Given the description of an element on the screen output the (x, y) to click on. 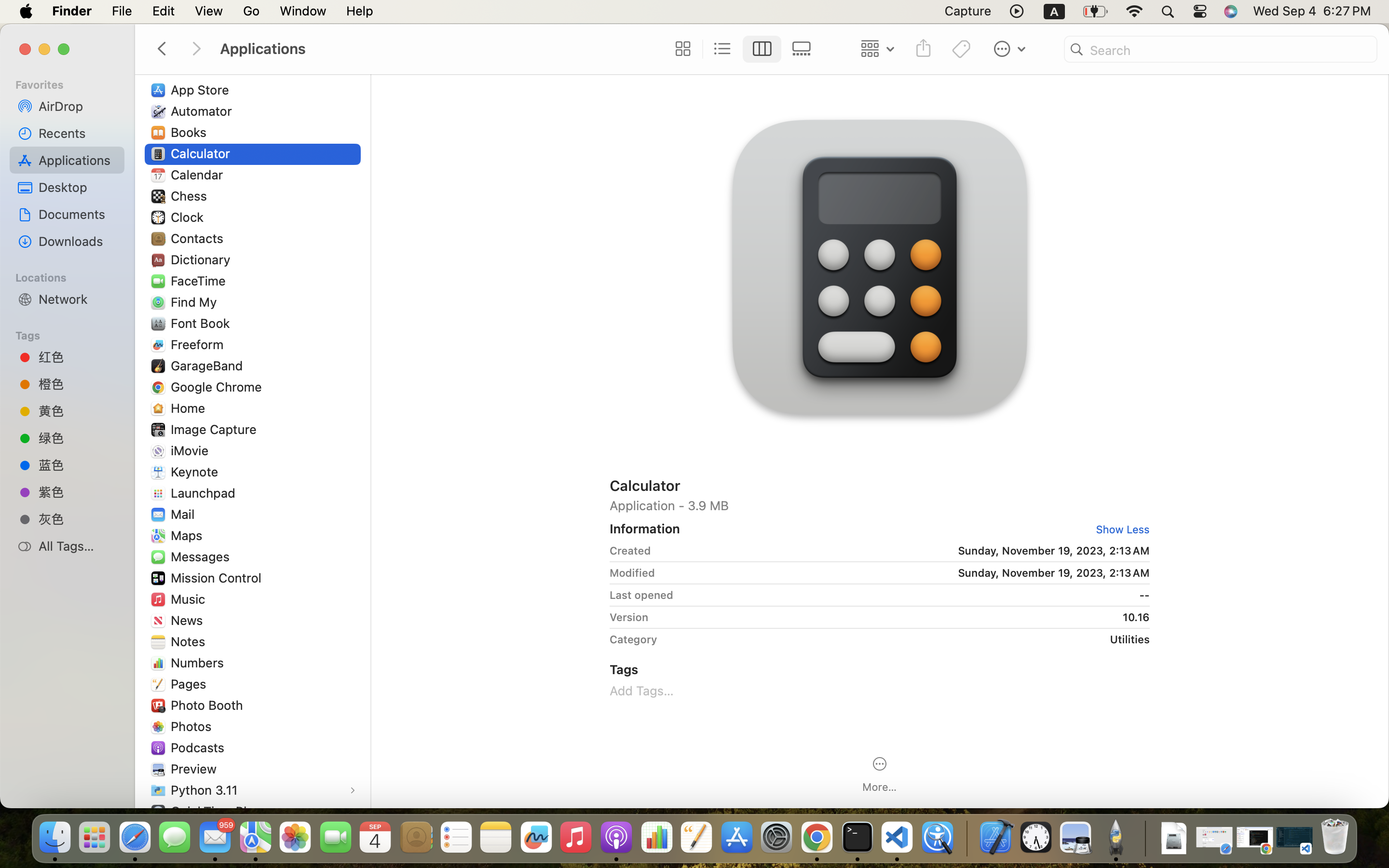
Podcasts Element type: AXTextField (199, 747)
Version Element type: AXStaticText (628, 616)
绿色 Element type: AXStaticText (77, 437)
0.0 Element type: AXValueIndicator (364, 324)
Utilities Element type: AXStaticText (906, 639)
